Given the description of an element on the screen output the (x, y) to click on. 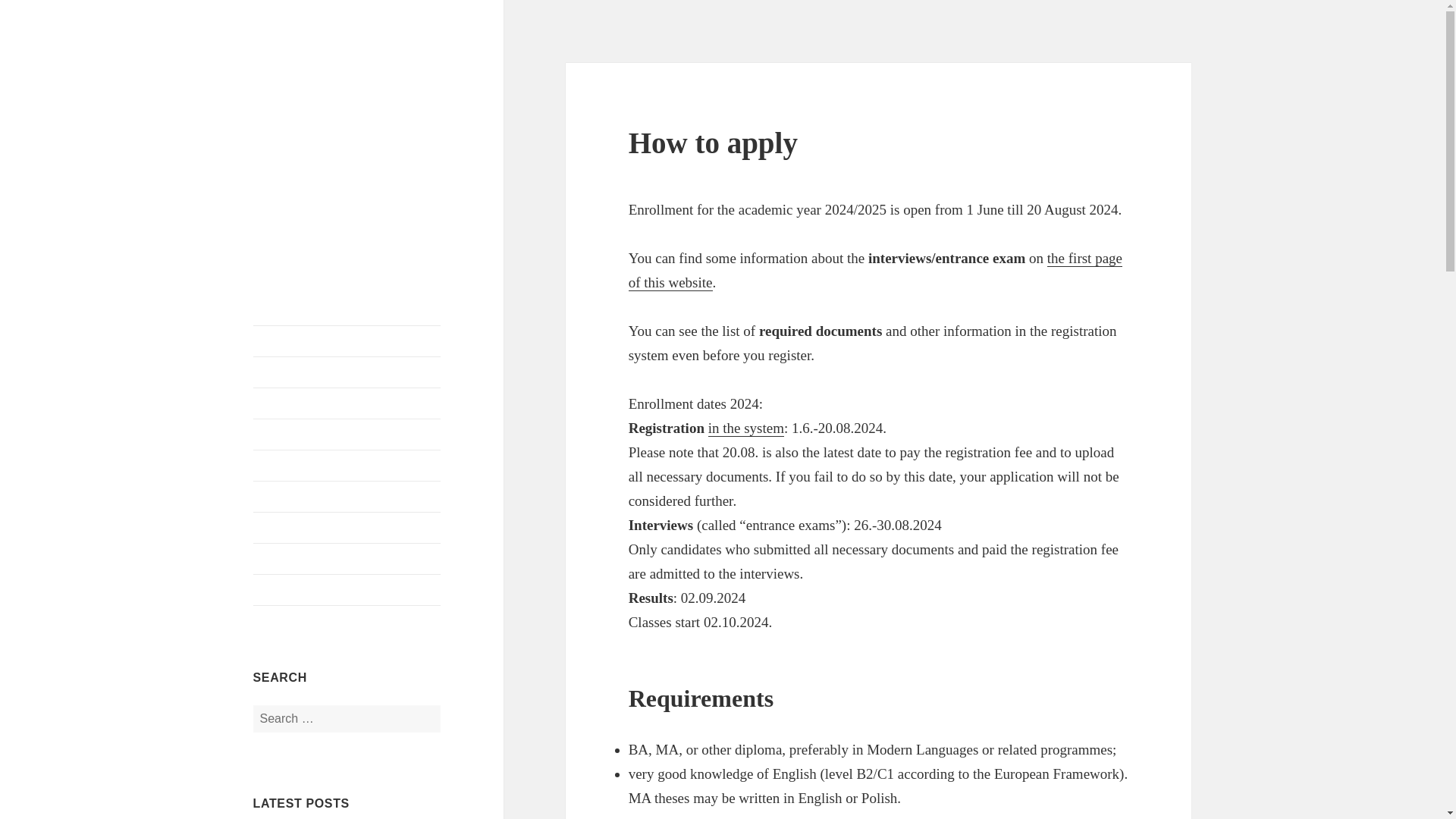
the first page of this website (875, 270)
in the system (745, 428)
Questions and Answers (347, 527)
Teachers (347, 465)
News (347, 372)
Welcome! (347, 340)
For more information (347, 558)
Classes (347, 434)
How to apply (347, 496)
Program overview (347, 403)
Declaration of accessibility (347, 589)
Search for: (347, 718)
